Given the description of an element on the screen output the (x, y) to click on. 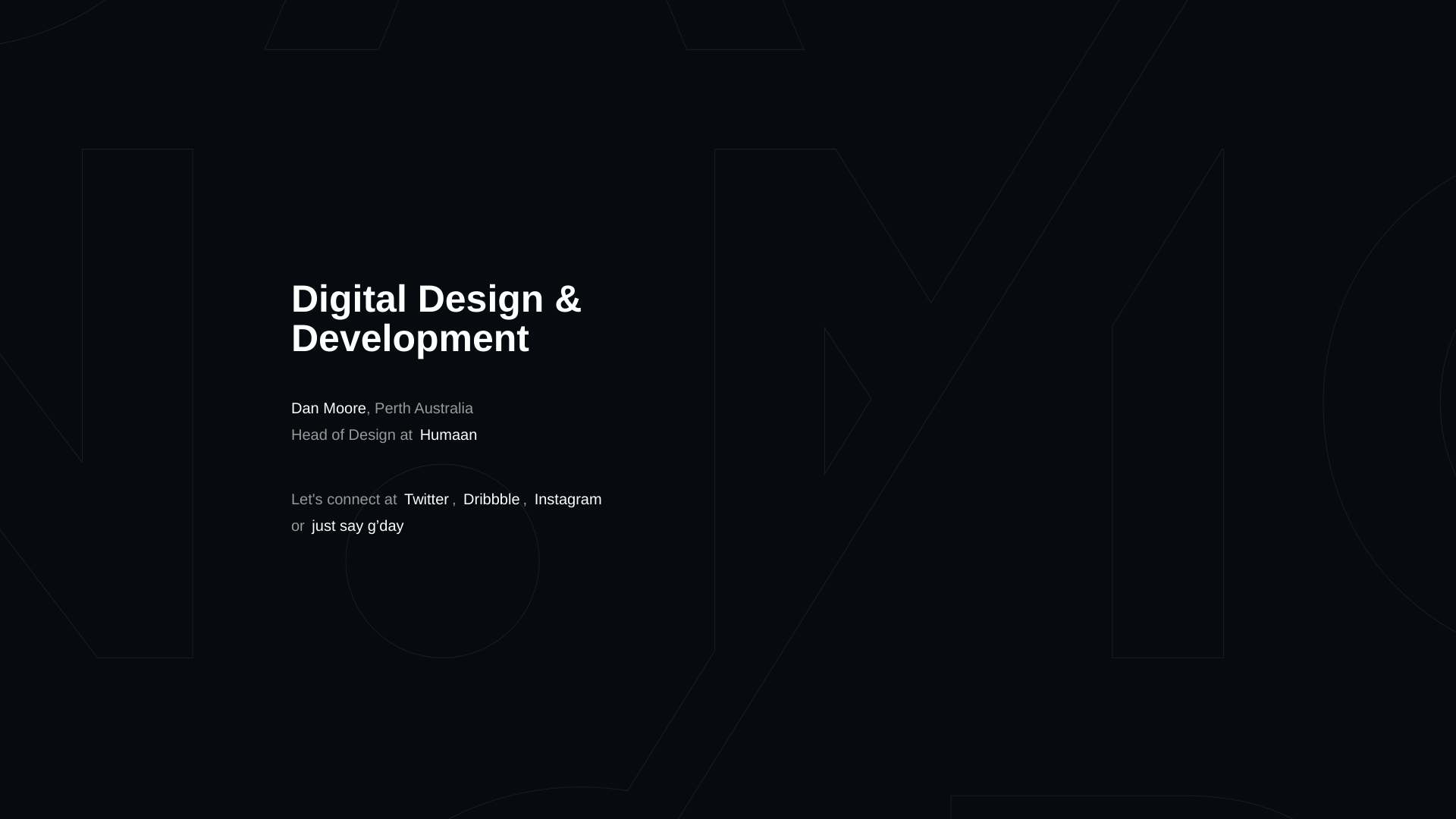
Dribbble Element type: text (491, 499)
Twitter Element type: text (426, 499)
Instagram Element type: text (568, 499)
Humaan Element type: text (448, 434)
